Given the description of an element on the screen output the (x, y) to click on. 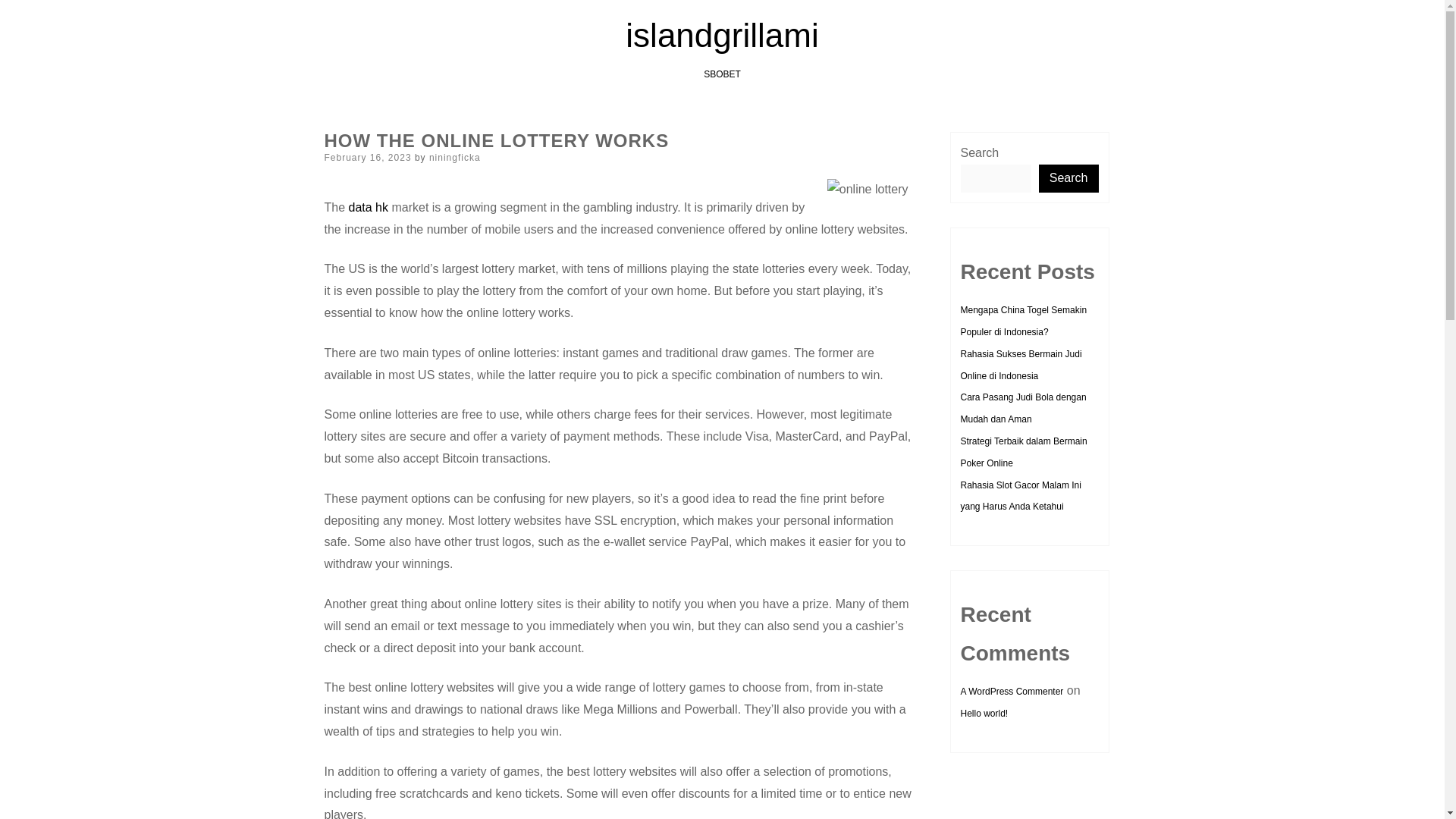
niningficka (454, 157)
A WordPress Commenter (1010, 691)
Rahasia Sukses Bermain Judi Online di Indonesia (1020, 364)
Rahasia Slot Gacor Malam Ini yang Harus Anda Ketahui (1019, 495)
February 16, 2023 (368, 157)
Cara Pasang Judi Bola dengan Mudah dan Aman (1022, 408)
Hello world! (983, 713)
SBOBET (722, 73)
Mengapa China Togel Semakin Populer di Indonesia? (1022, 320)
data hk (368, 206)
